Given the description of an element on the screen output the (x, y) to click on. 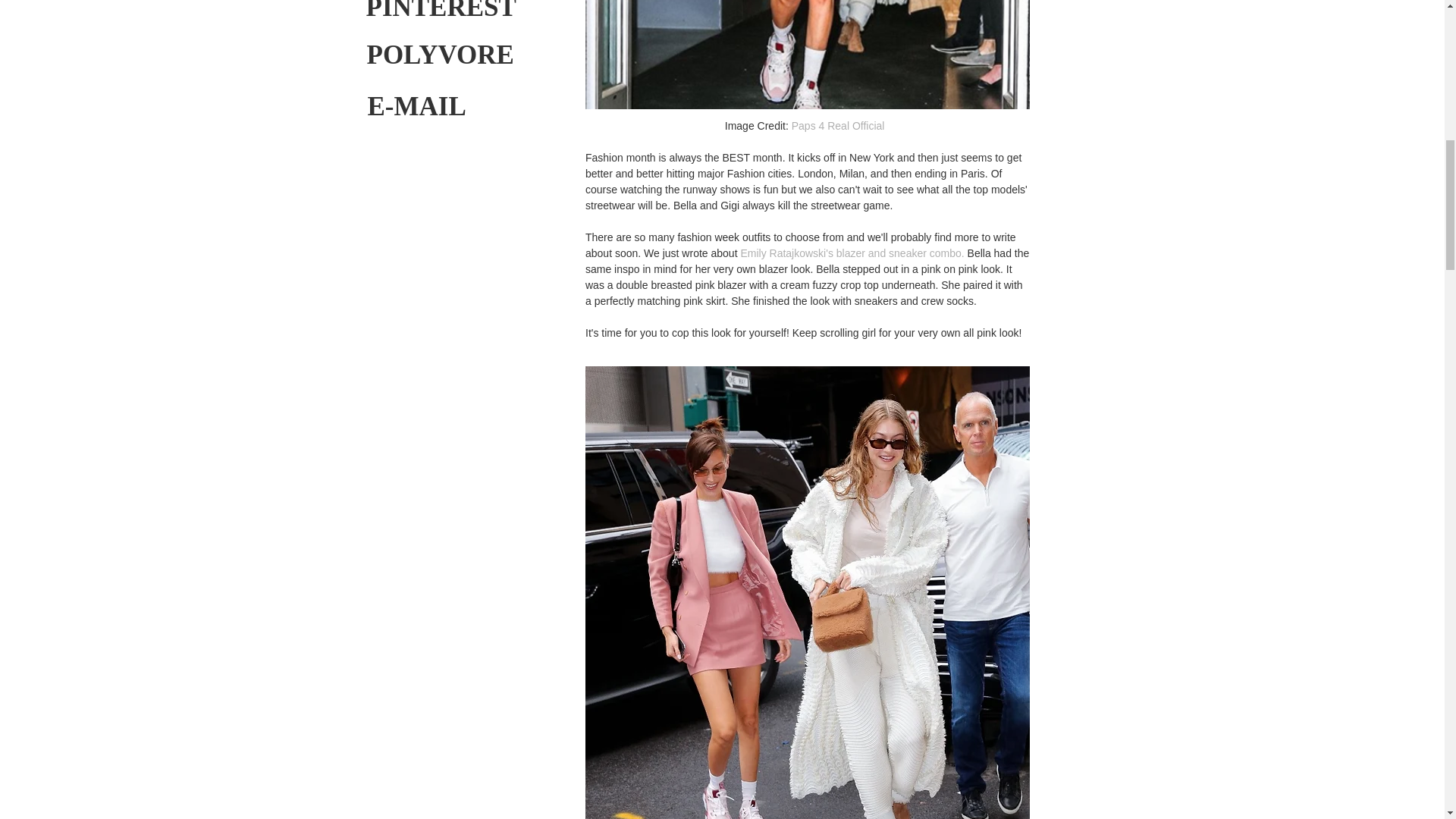
POLYVORE (439, 55)
Emily Ratajkowski's blazer and sneaker combo. (851, 253)
E-MAIL (431, 106)
Paps 4 Real Official   (839, 125)
PINTEREST (440, 13)
